Given the description of an element on the screen output the (x, y) to click on. 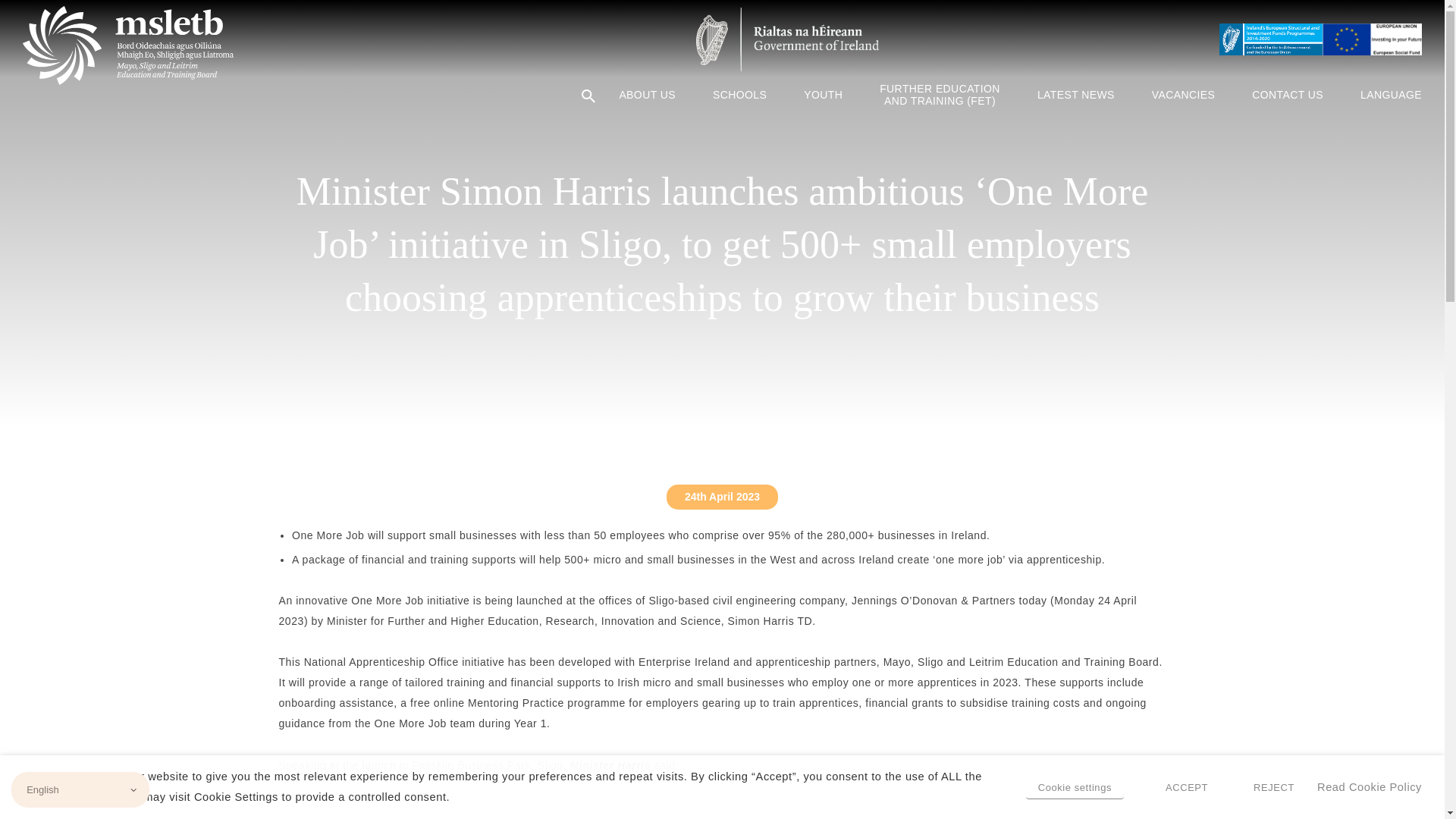
SCHOOLS (739, 94)
YOUTH (823, 94)
ABOUT US (646, 94)
